Given the description of an element on the screen output the (x, y) to click on. 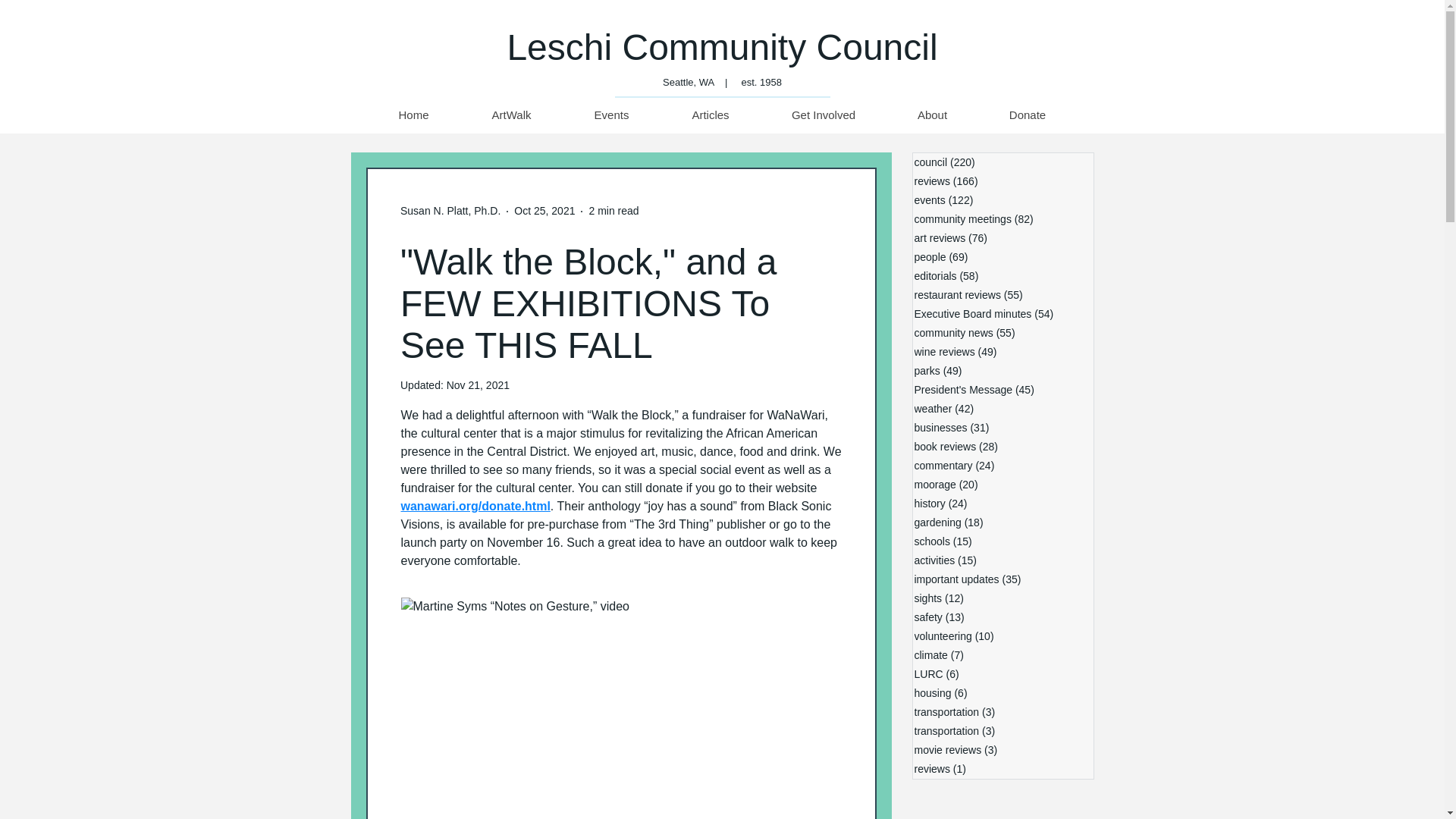
Leschi Community Council (721, 47)
Oct 25, 2021 (544, 210)
Donate (1027, 114)
About (930, 114)
Home (413, 114)
ArtWalk (511, 114)
Articles (709, 114)
Susan N. Platt, Ph.D. (450, 211)
Events (611, 114)
2 min read (613, 210)
